Given the description of an element on the screen output the (x, y) to click on. 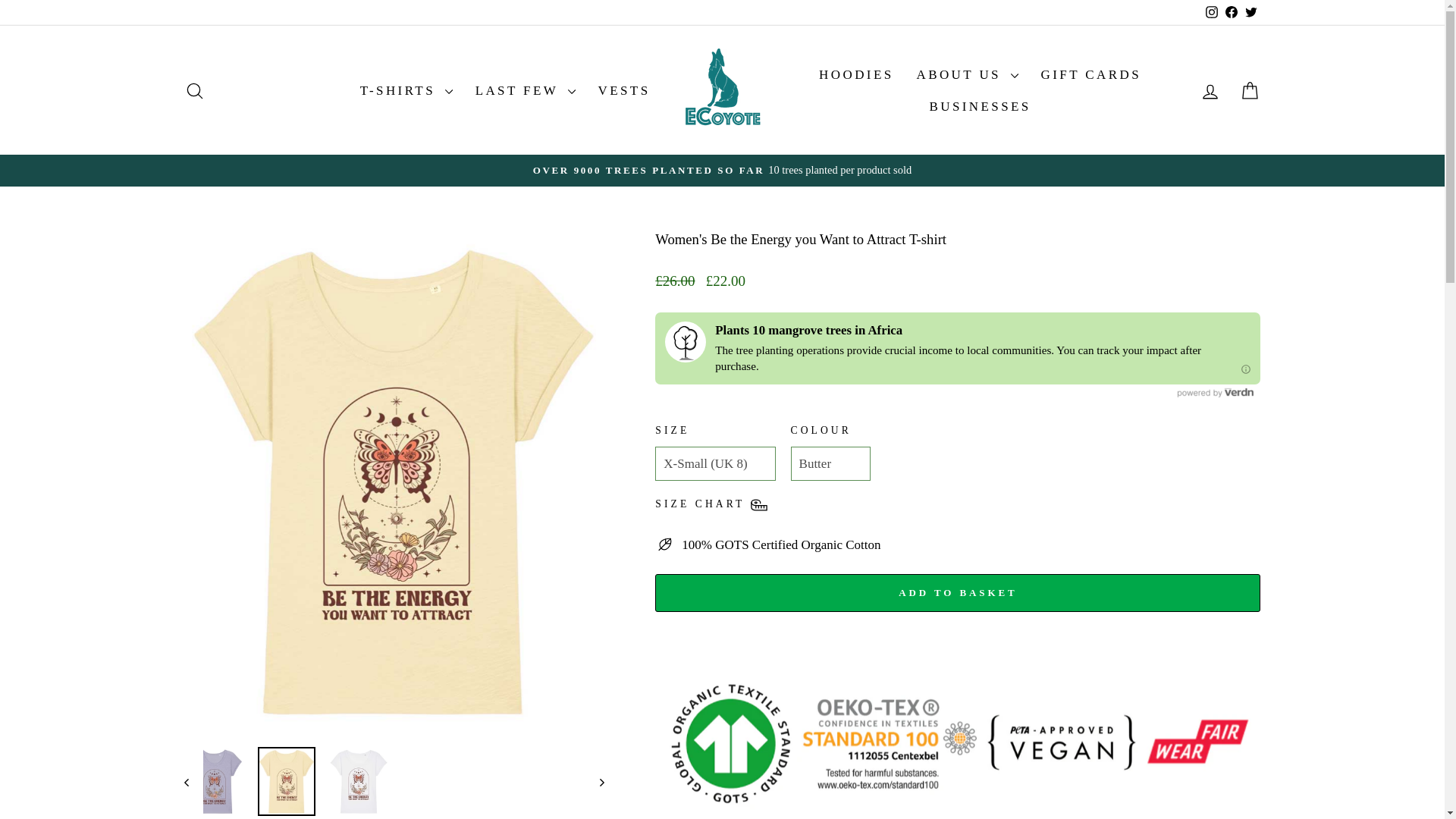
ICON-SEARCH (194, 90)
VESTS (624, 90)
twitter (1250, 11)
instagram (1211, 11)
ACCOUNT (194, 90)
HOODIES (1210, 91)
